Given the description of an element on the screen output the (x, y) to click on. 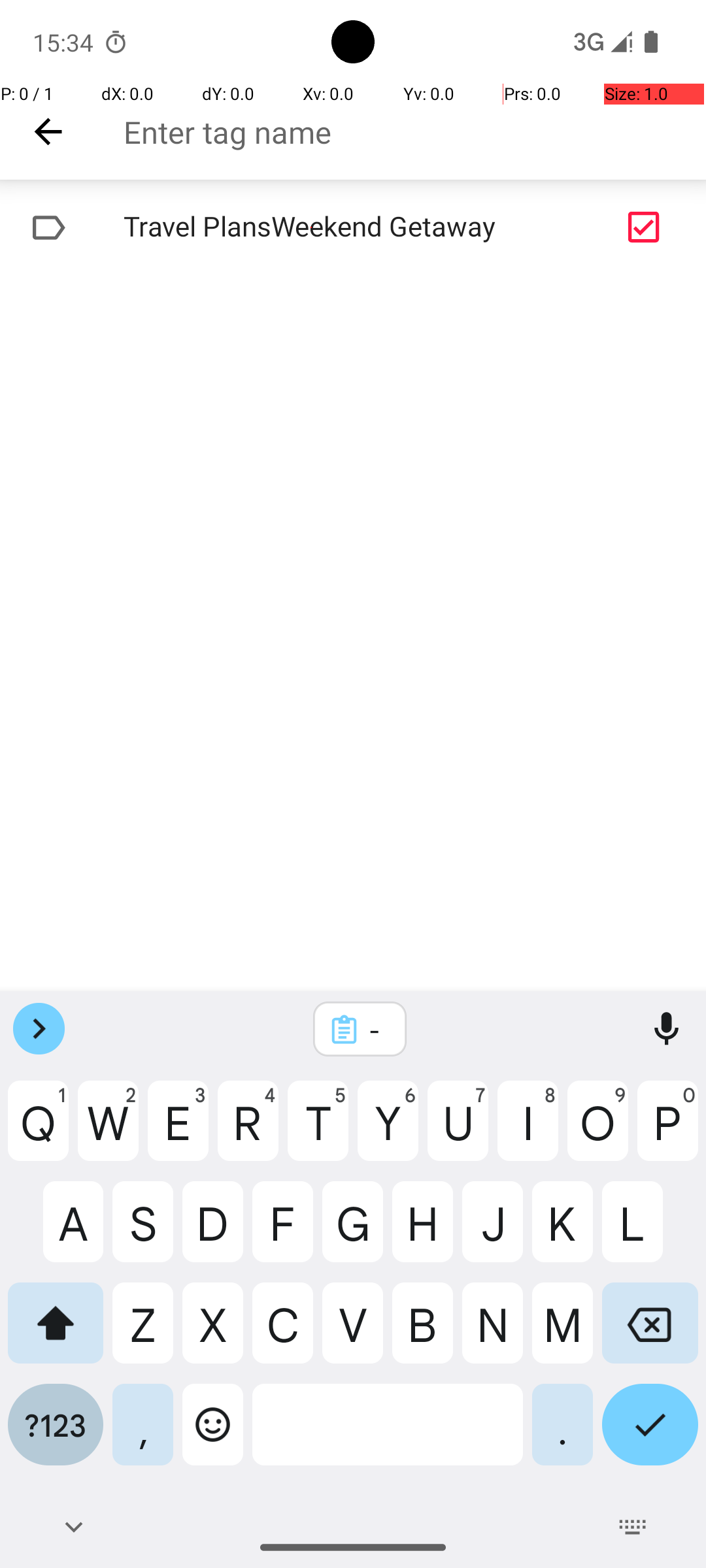
Travel PlansWeekend Getaway Element type: android.widget.TextView (311, 227)
